Given the description of an element on the screen output the (x, y) to click on. 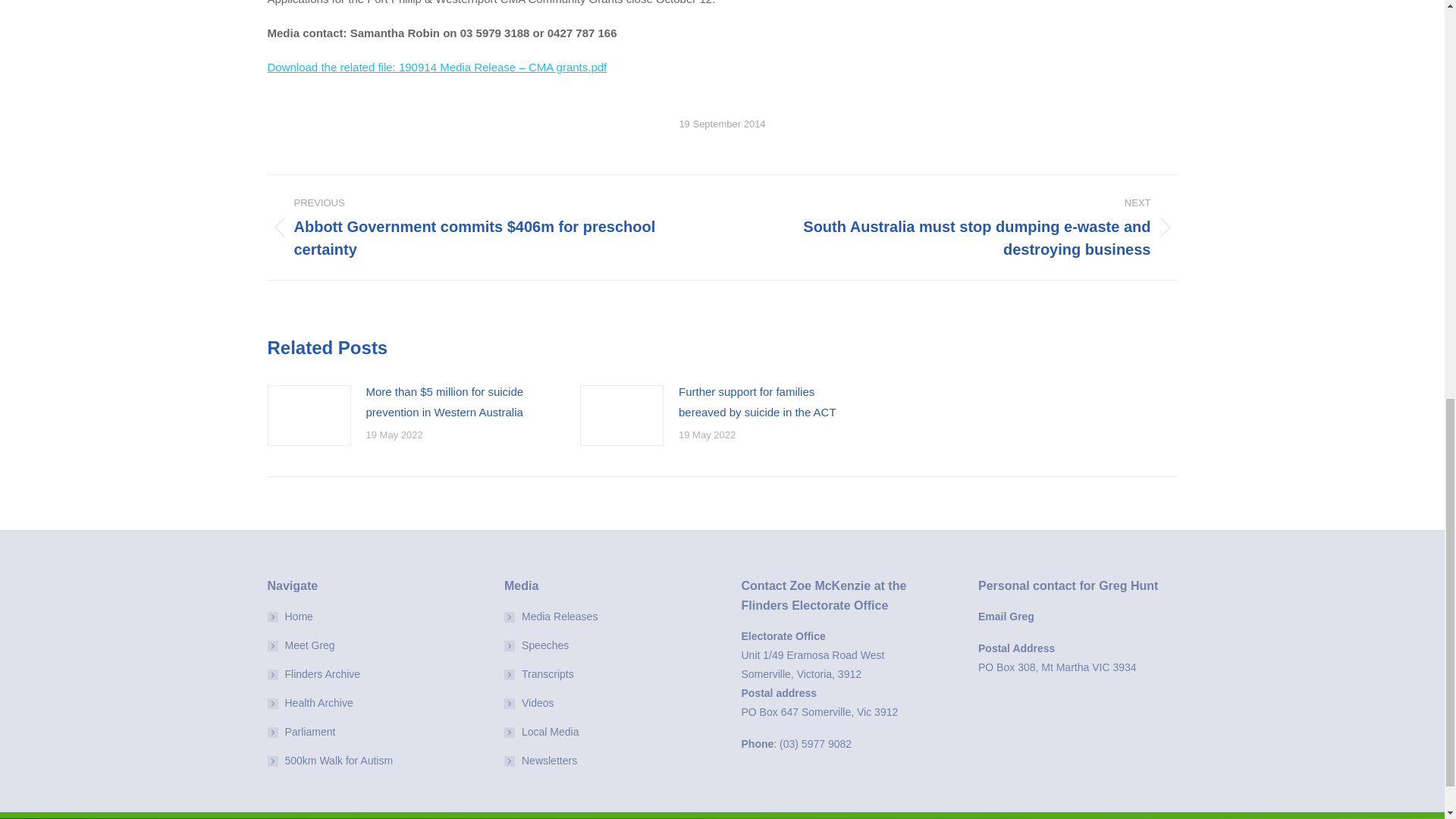
12:00 am (721, 123)
